Given the description of an element on the screen output the (x, y) to click on. 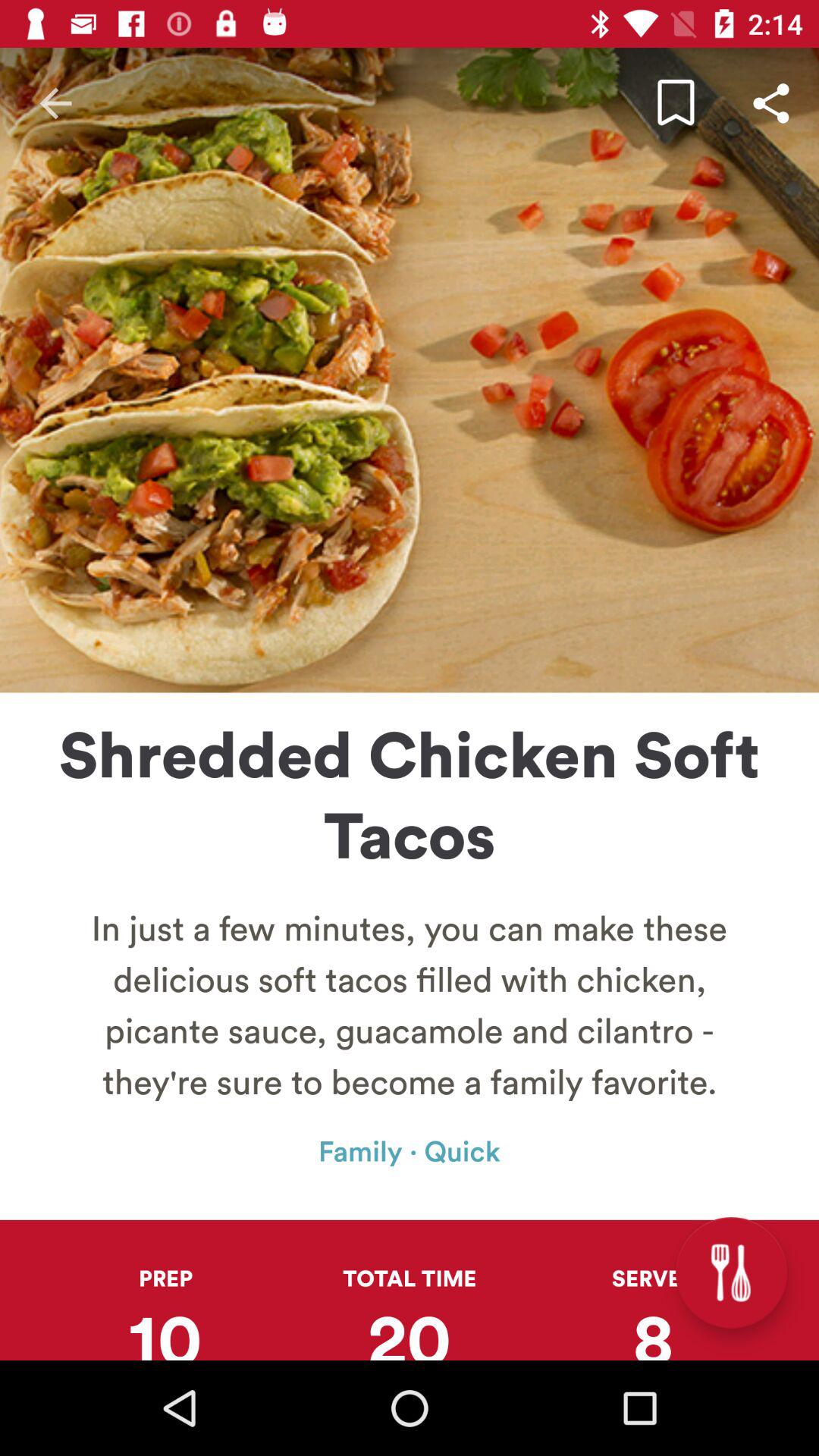
select the second icon which is at the top right of the page (771, 103)
